Given the description of an element on the screen output the (x, y) to click on. 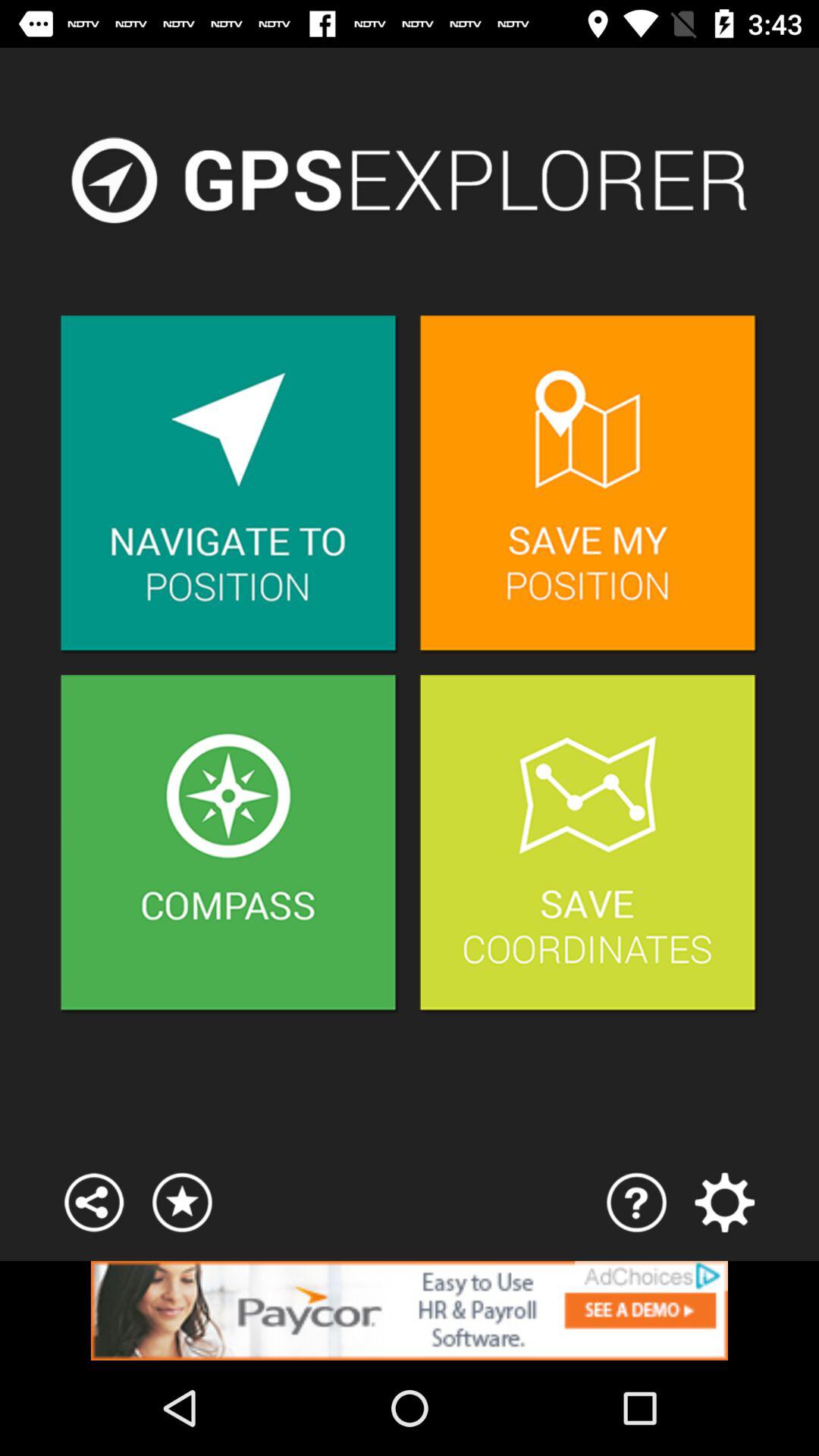
access the compass (229, 844)
